Given the description of an element on the screen output the (x, y) to click on. 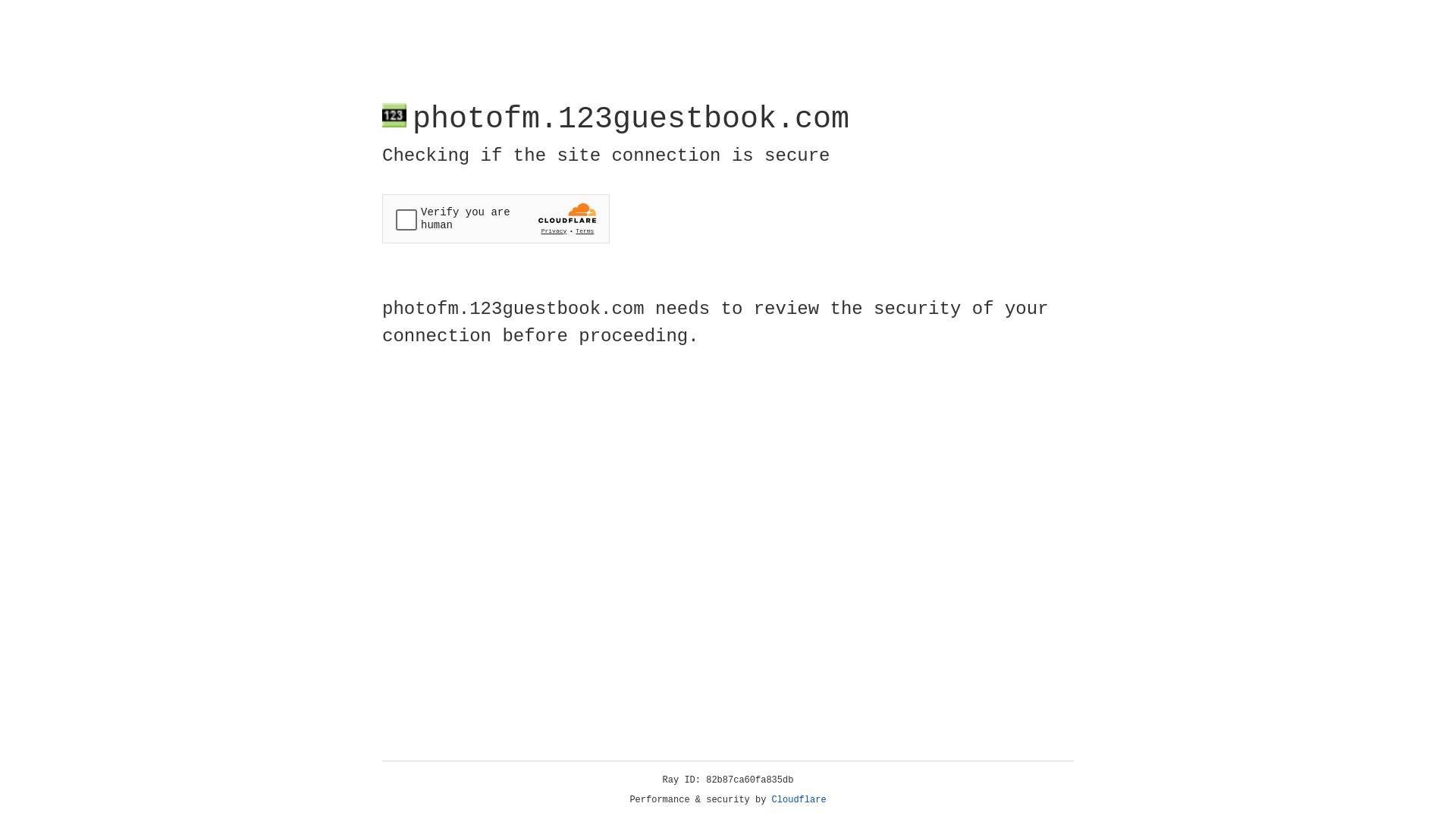
Widget containing a Cloudflare security challenge Element type: hover (495, 218)
Cloudflare Element type: text (798, 799)
